Given the description of an element on the screen output the (x, y) to click on. 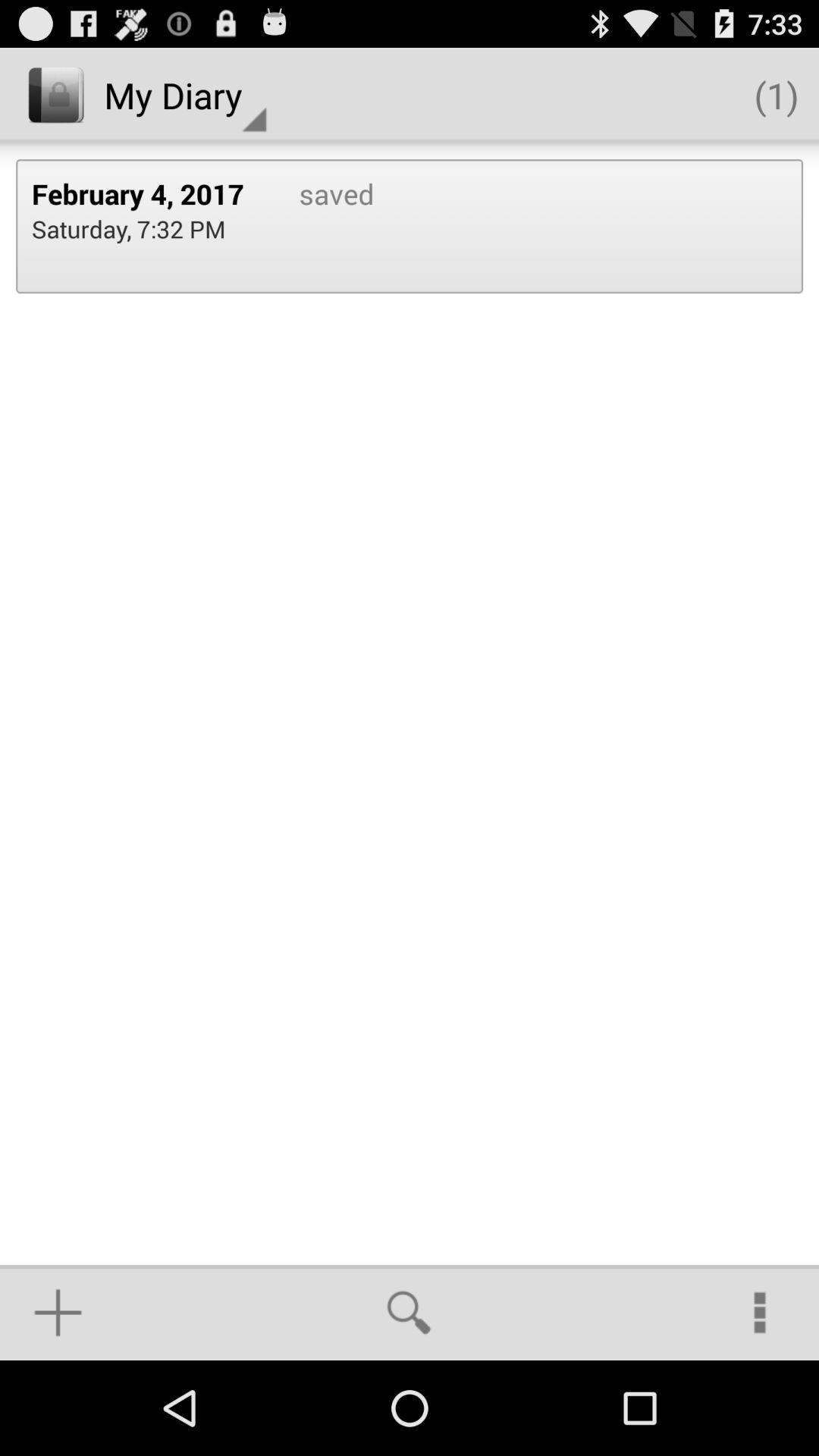
turn off saved item (320, 226)
